Given the description of an element on the screen output the (x, y) to click on. 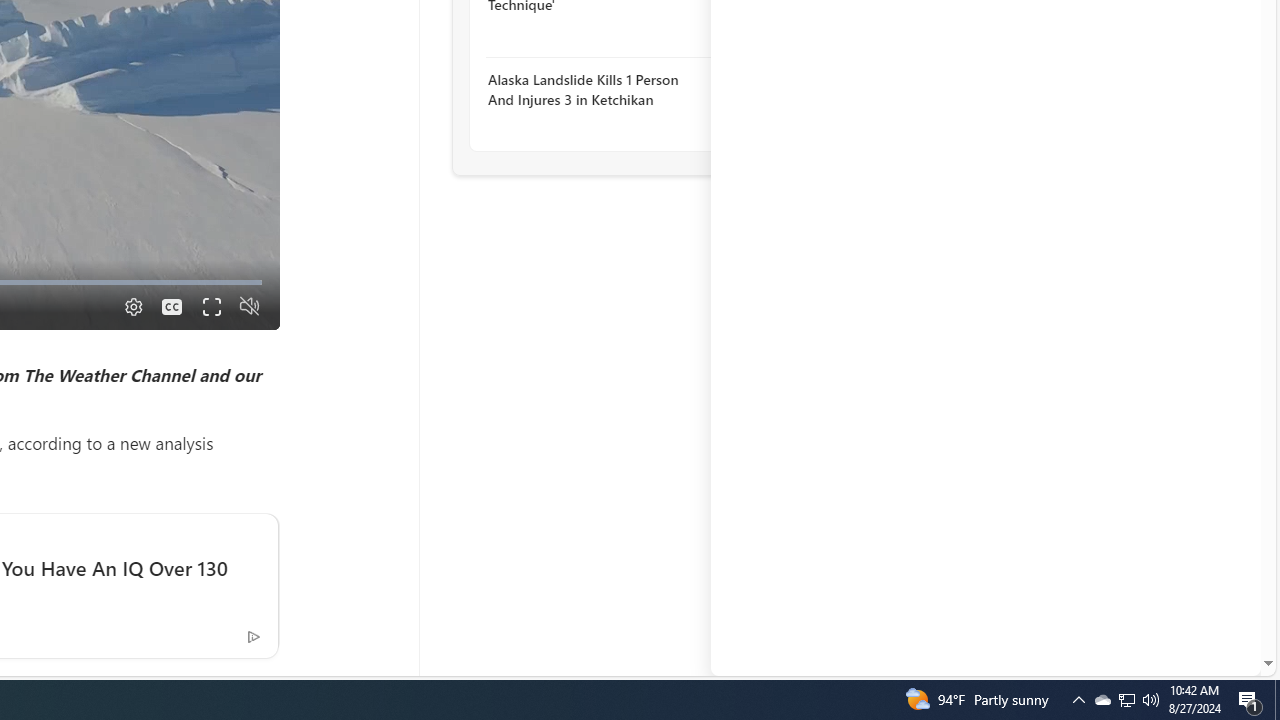
Alaska Landslide Kills 1 Person And Injures 3 in Ketchikan (596, 89)
Fullscreen (210, 306)
Ad Choice (253, 635)
Quality Settings (131, 306)
Unmute (249, 306)
Captions (171, 306)
